Given the description of an element on the screen output the (x, y) to click on. 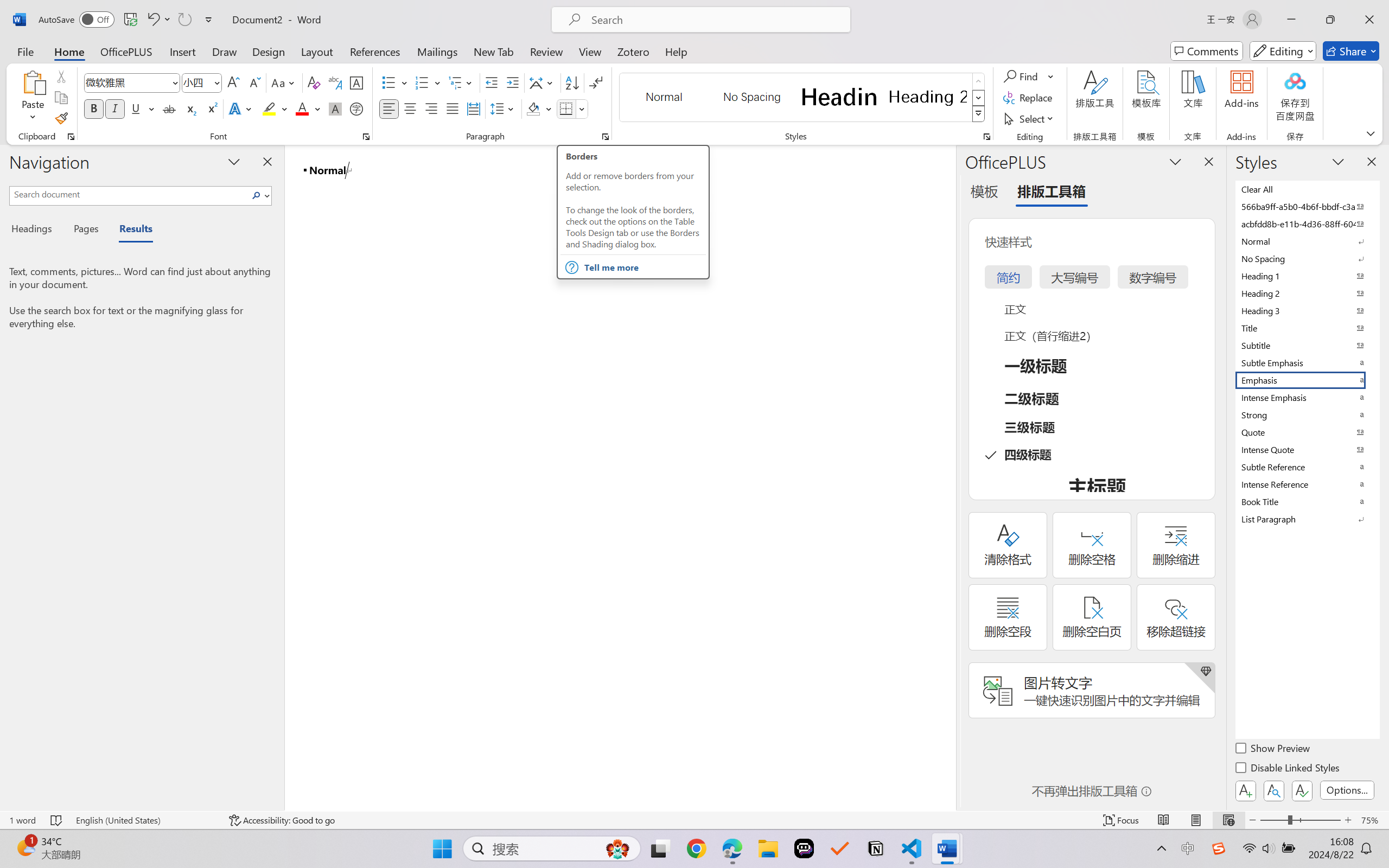
Emphasis (1306, 379)
Search (259, 195)
Row up (978, 81)
Underline (135, 108)
Focus  (1121, 819)
Copy (60, 97)
Class: NetUIImage (978, 114)
Review (546, 51)
Text Highlight Color (274, 108)
Borders (571, 108)
Distributed (473, 108)
